Given the description of an element on the screen output the (x, y) to click on. 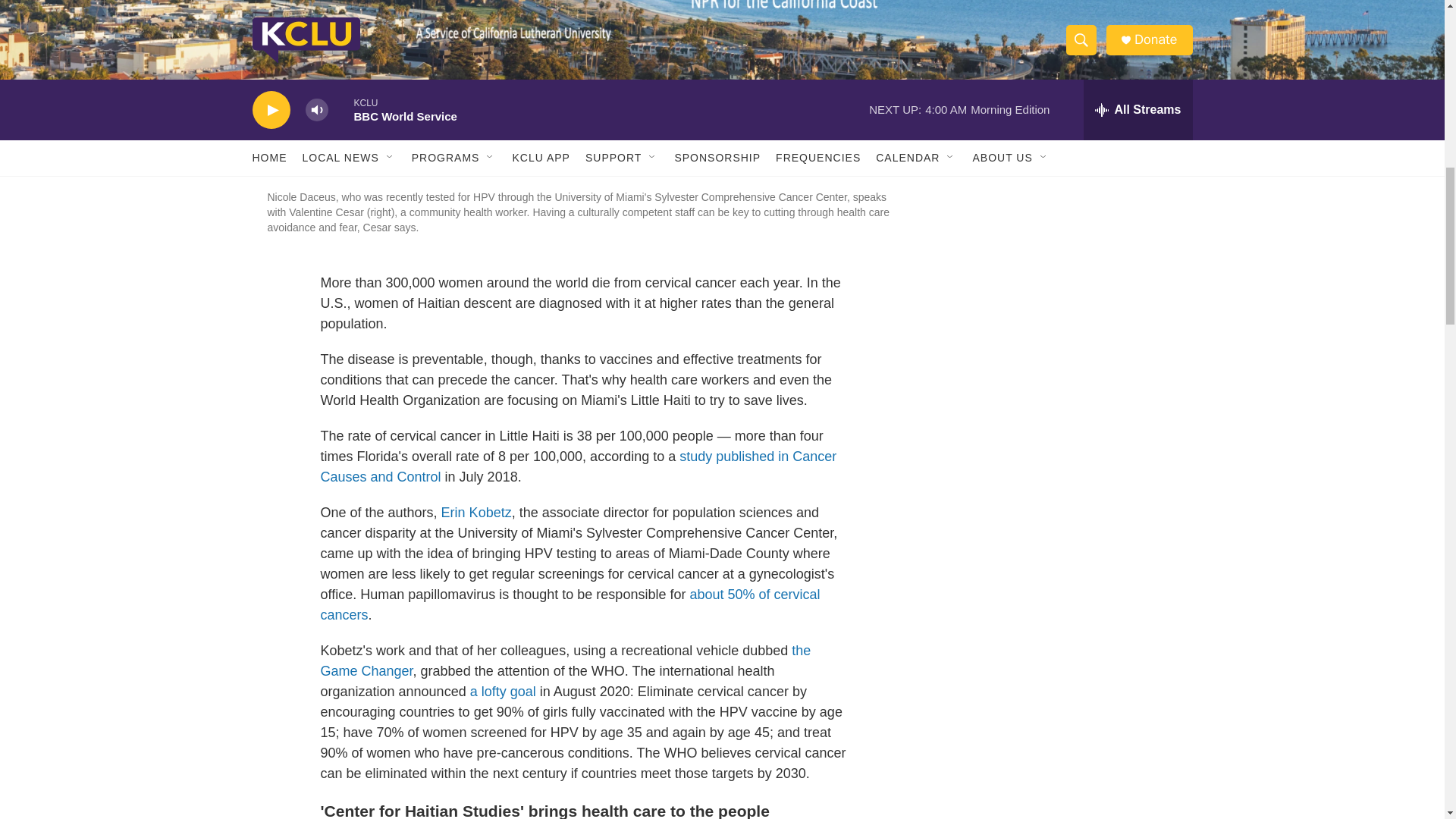
3rd party ad content (1062, 166)
